Given the description of an element on the screen output the (x, y) to click on. 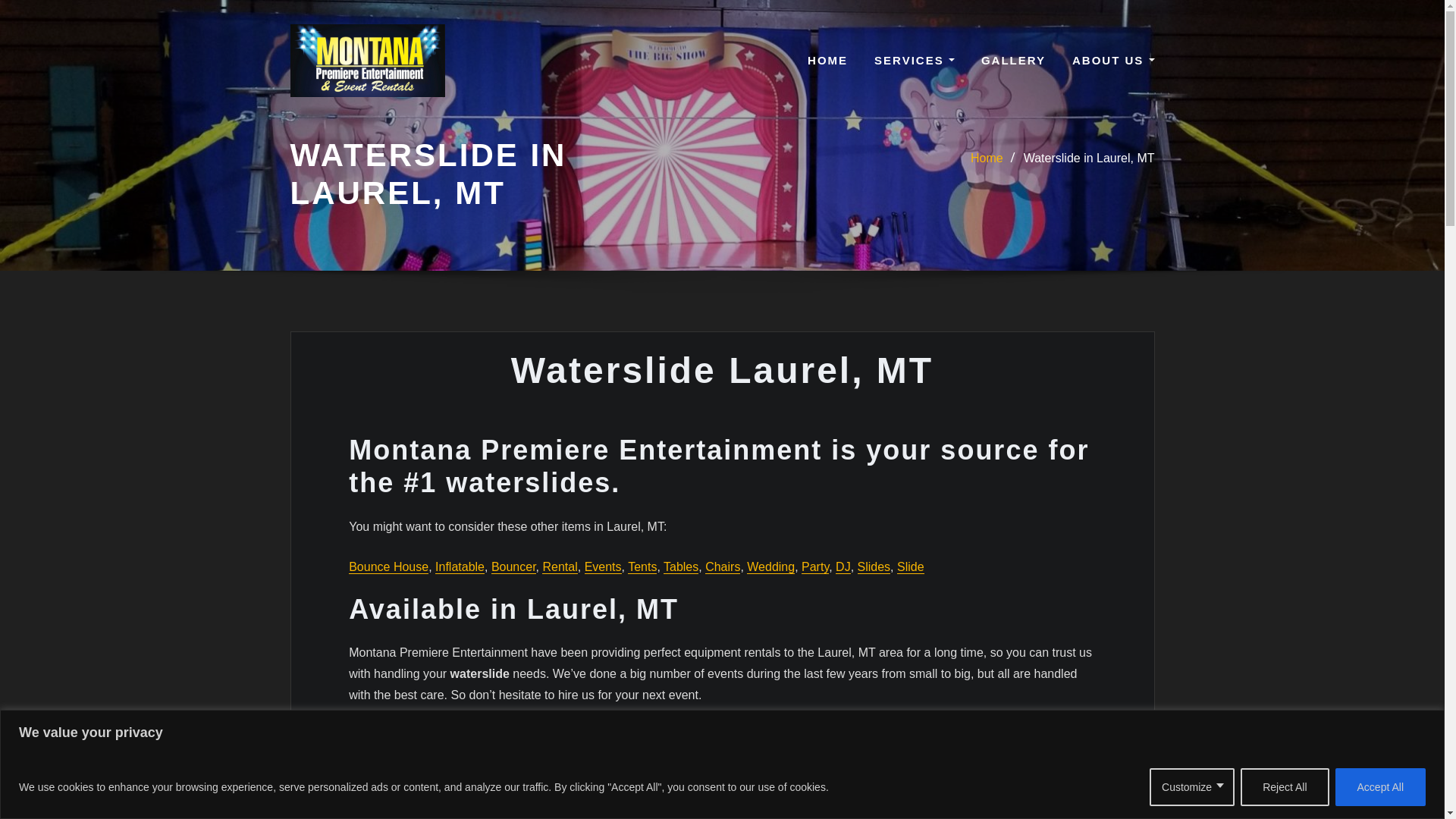
Customize (1192, 786)
Reject All (1283, 786)
ABOUT US (1112, 60)
Accept All (1380, 786)
GALLERY (1013, 60)
HOME (827, 60)
SERVICES (915, 60)
